Given the description of an element on the screen output the (x, y) to click on. 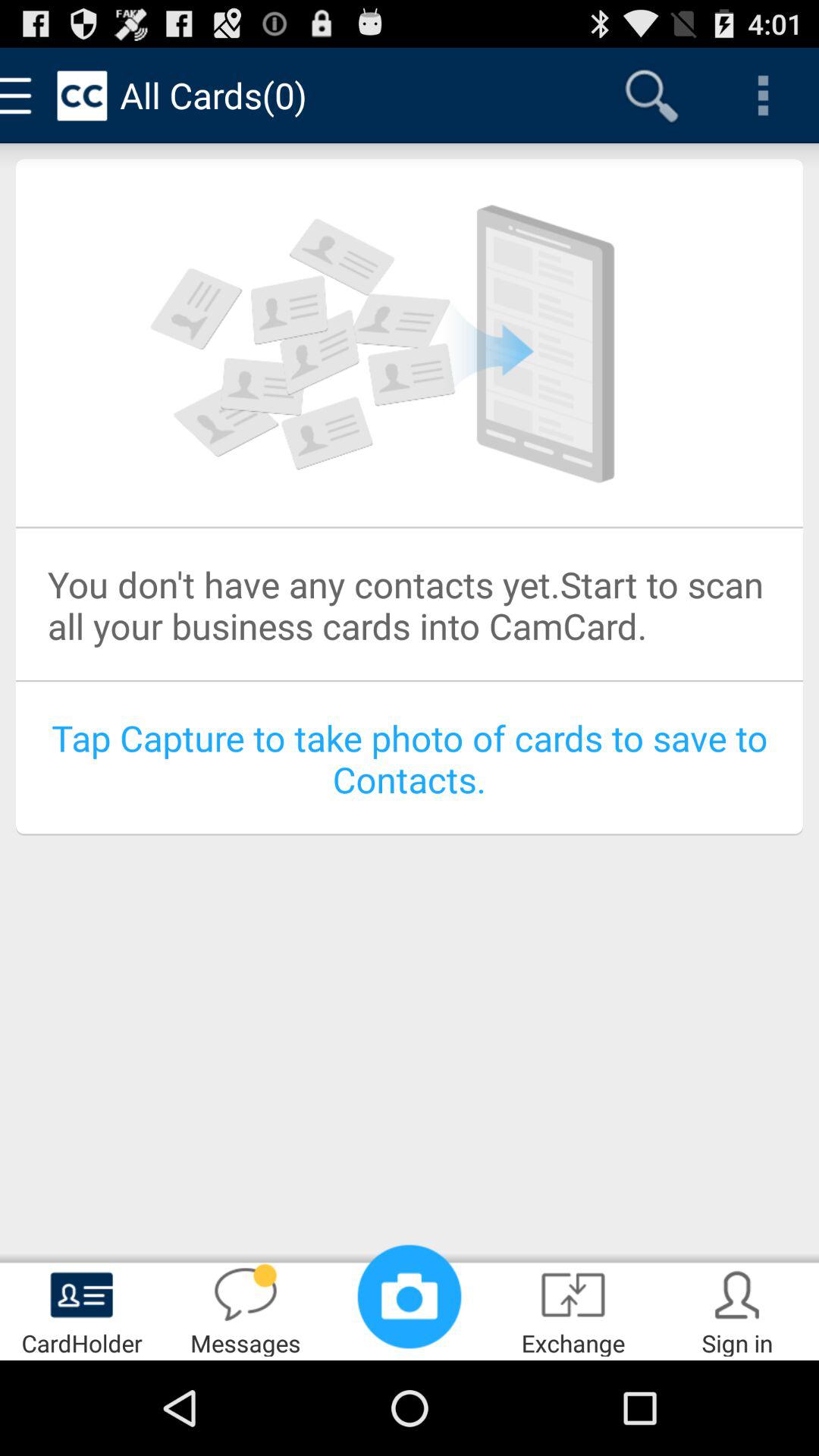
launch the icon to the left of the exchange icon (409, 1296)
